Given the description of an element on the screen output the (x, y) to click on. 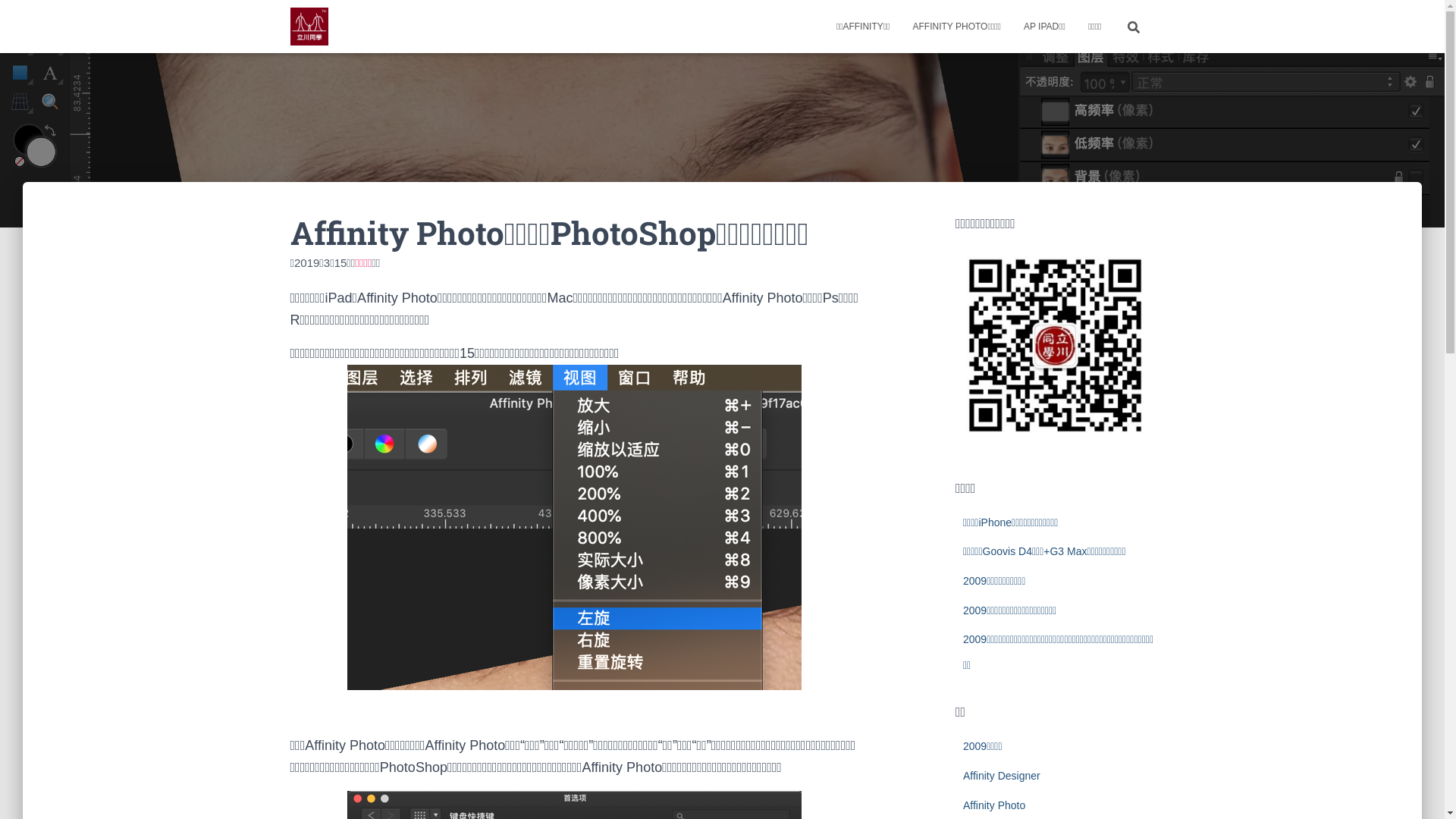
Affinity Photo Element type: text (994, 805)
rotatecanvas.png Element type: hover (574, 527)
Affinity Designer Element type: text (1001, 775)
